Given the description of an element on the screen output the (x, y) to click on. 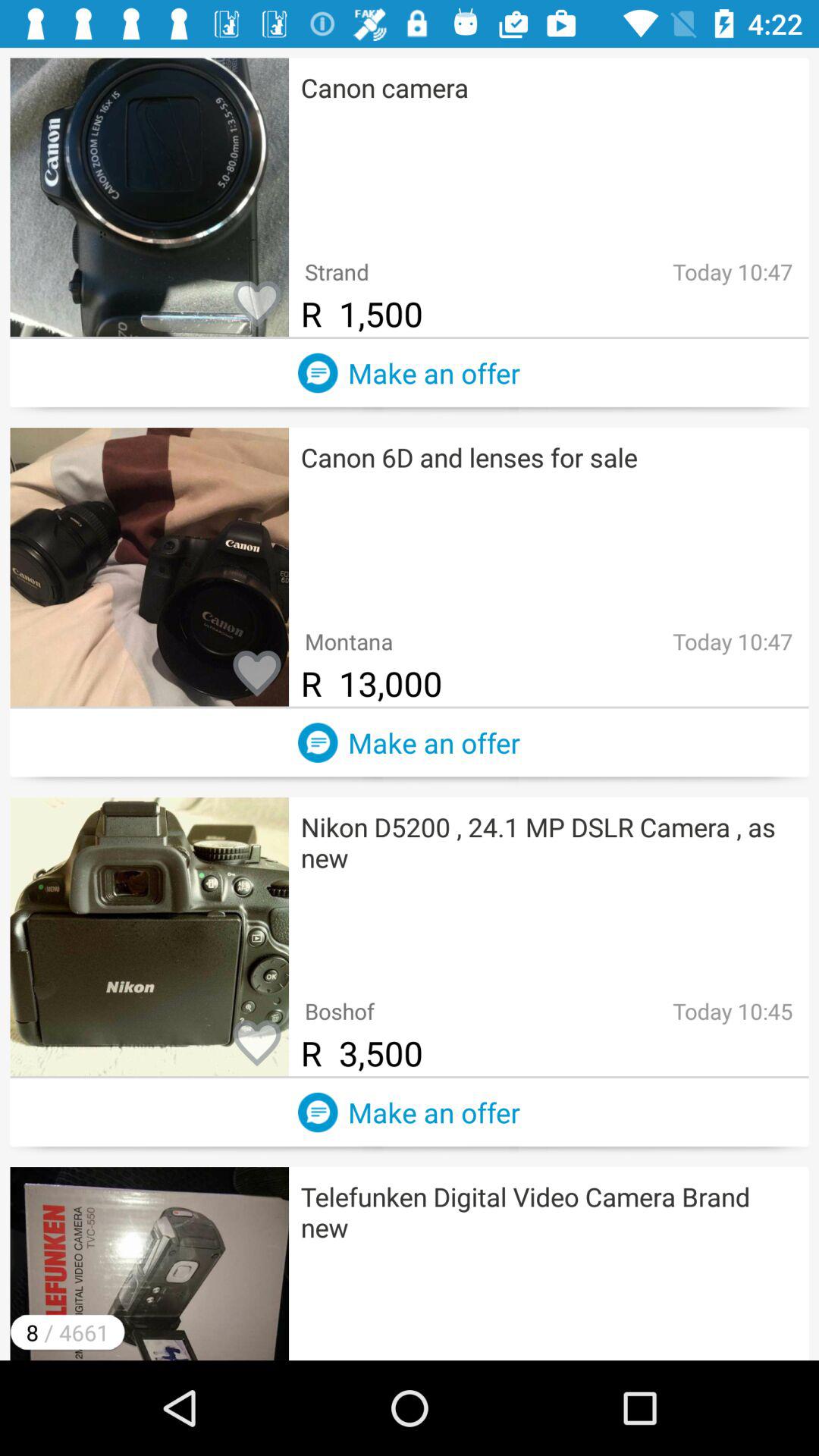
creating new advertisement (317, 742)
